Given the description of an element on the screen output the (x, y) to click on. 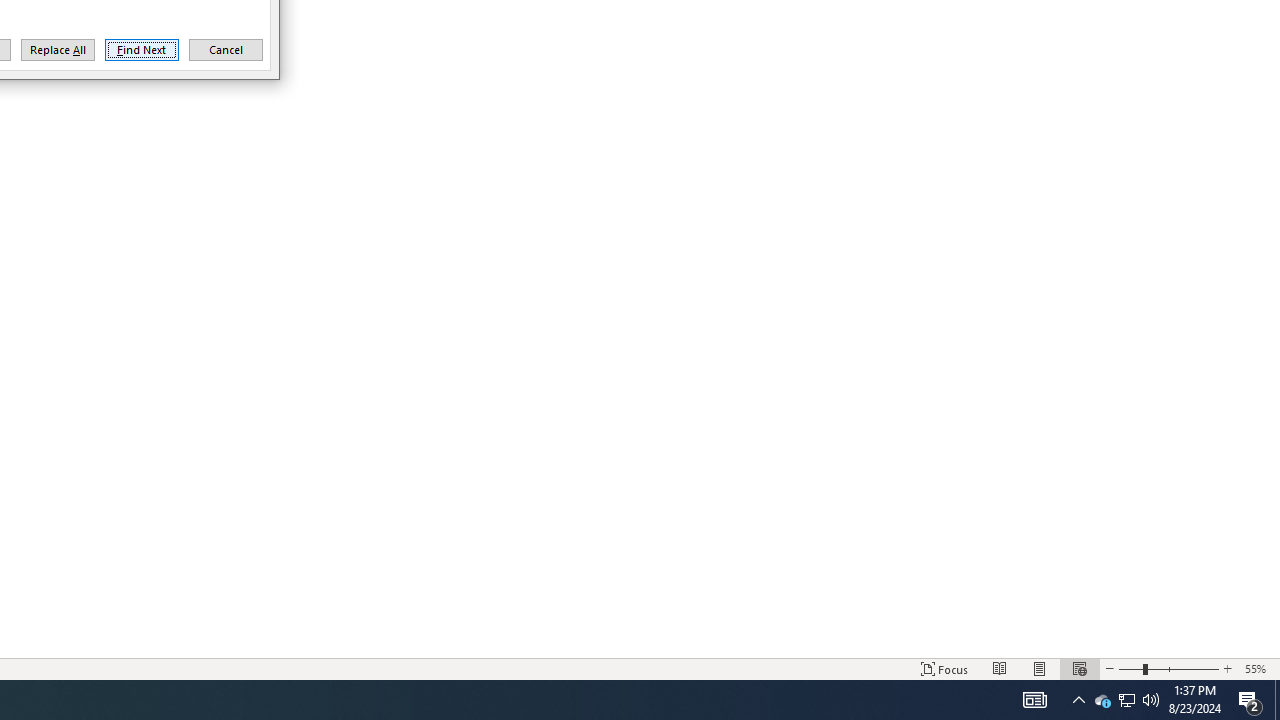
Find Next (141, 49)
Focus  (944, 668)
Action Center, 2 new notifications (1250, 699)
Web Layout (1079, 668)
